Given the description of an element on the screen output the (x, y) to click on. 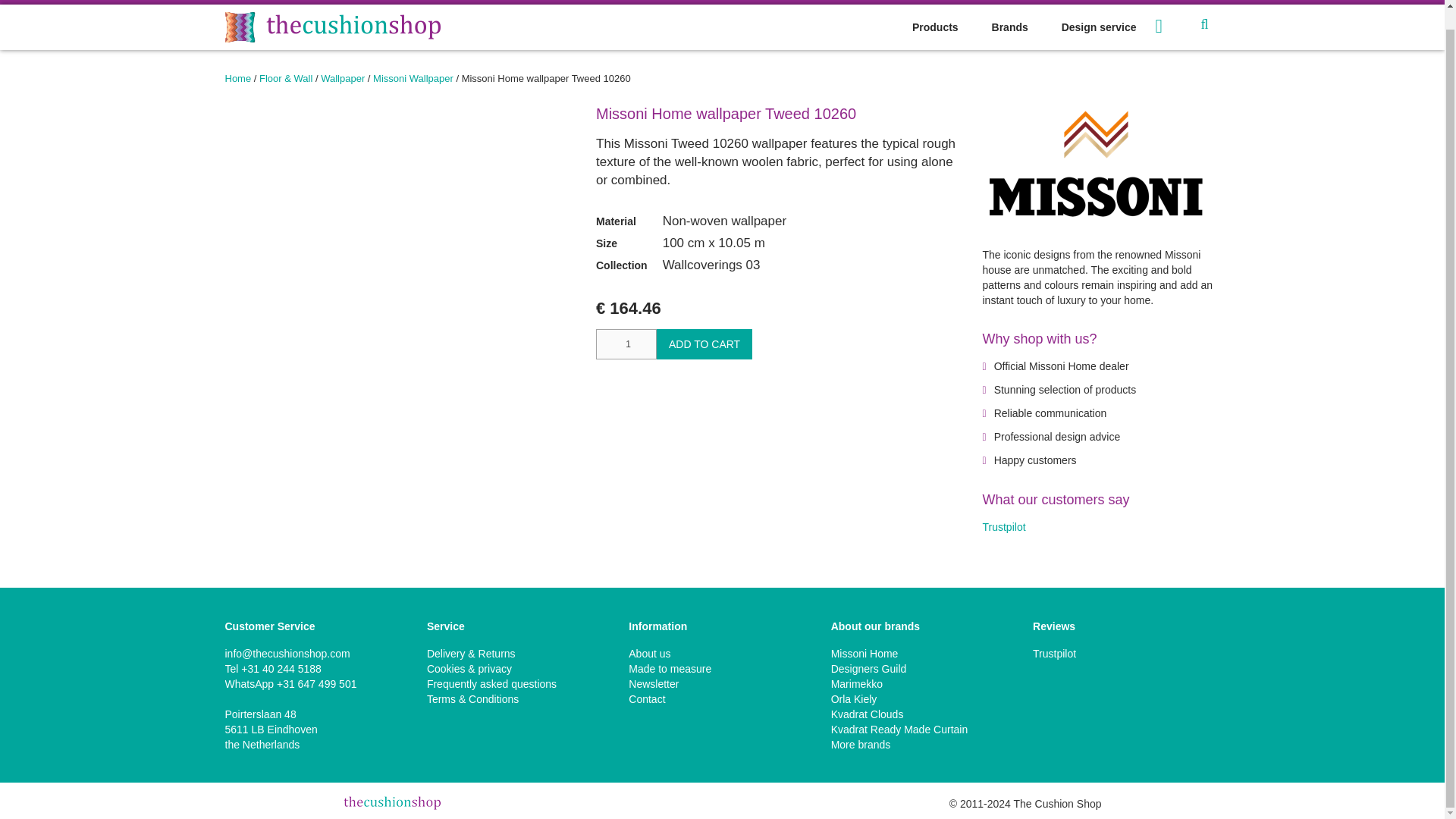
The Cushion Shop (331, 27)
To cart (1171, 25)
1 (625, 344)
Products (935, 26)
